Given the description of an element on the screen output the (x, y) to click on. 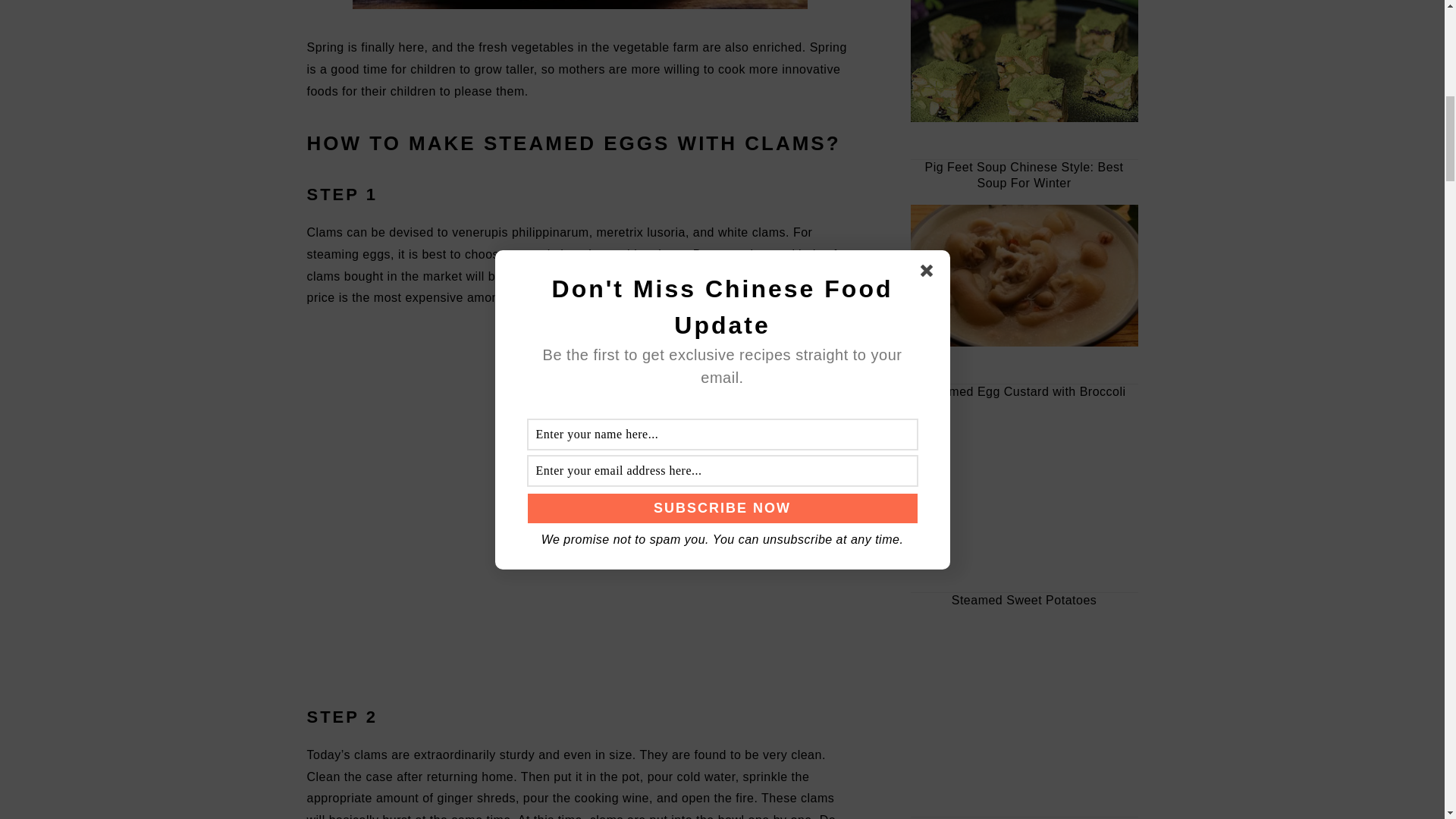
The Snowflake Crisp With Matcha And Dried Fruit (1023, 61)
Steamed Sweet Potatoes (1023, 692)
Steamed Egg Custard with Broccoli (1023, 484)
Pig Feet Soup Chinese Style: Best Soup For Winter (1023, 275)
